Given the description of an element on the screen output the (x, y) to click on. 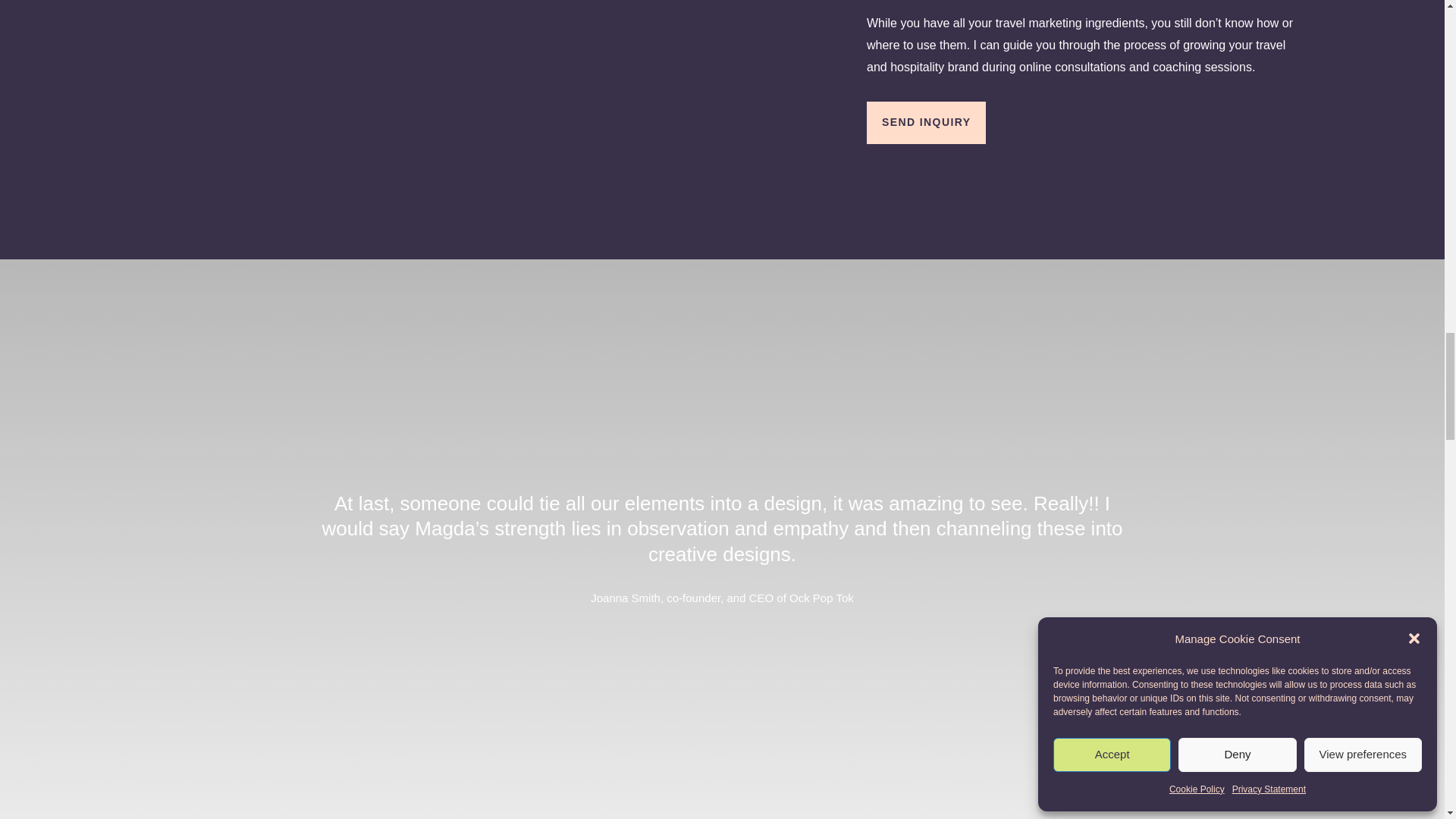
SEND INQUIRY (925, 122)
